Given the description of an element on the screen output the (x, y) to click on. 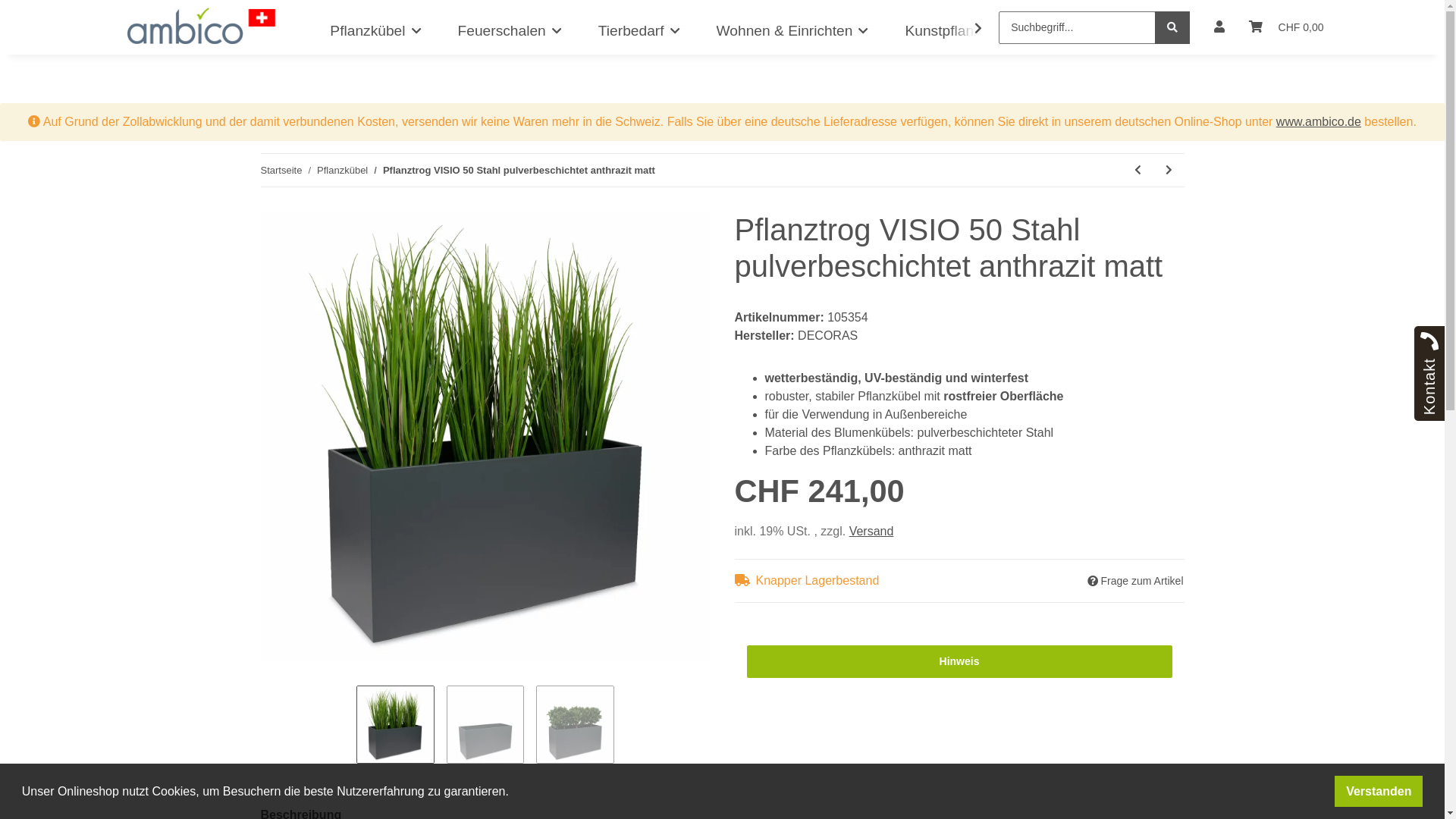
Verstanden Element type: text (1378, 790)
Pflanztrog TORRE 80 Kunststoff cappuccino matt Element type: hover (1137, 169)
Frage zum Artikel Element type: text (1135, 580)
Kunstpflanzen Element type: text (950, 31)
ambico GmbH Element type: hover (201, 25)
Feuerschalen Element type: text (509, 31)
Hinweis Element type: text (958, 661)
Wohnen & Einrichten Element type: text (792, 31)
Startseite Element type: text (281, 170)
Versand Element type: text (871, 530)
Pflanztrog VISIO 50 Stahl pulverbeschichtet anthrazit matt Element type: text (518, 170)
Tierbedarf Element type: text (639, 31)
www.ambico.de Element type: text (1318, 121)
CHF 0,00 Element type: text (1285, 27)
